Given the description of an element on the screen output the (x, y) to click on. 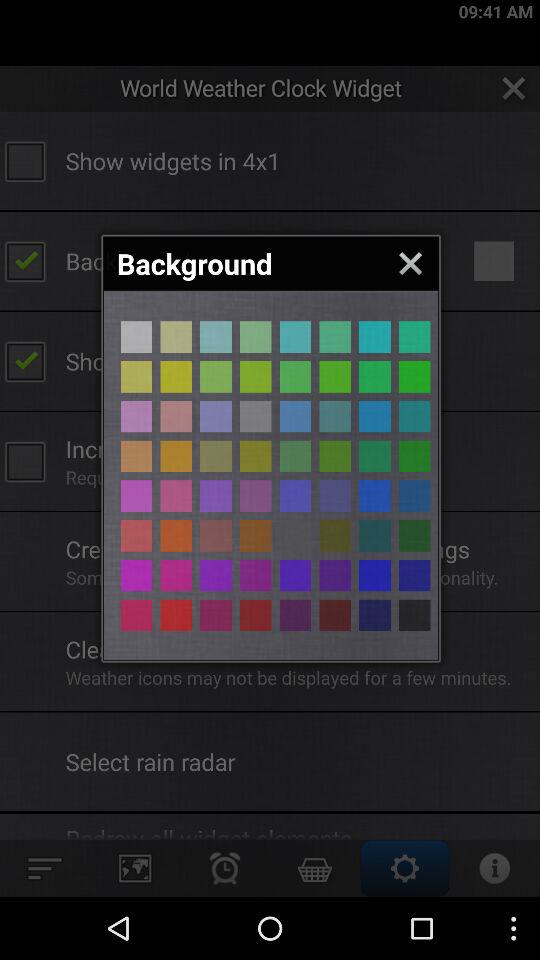
select colour (255, 416)
